Given the description of an element on the screen output the (x, y) to click on. 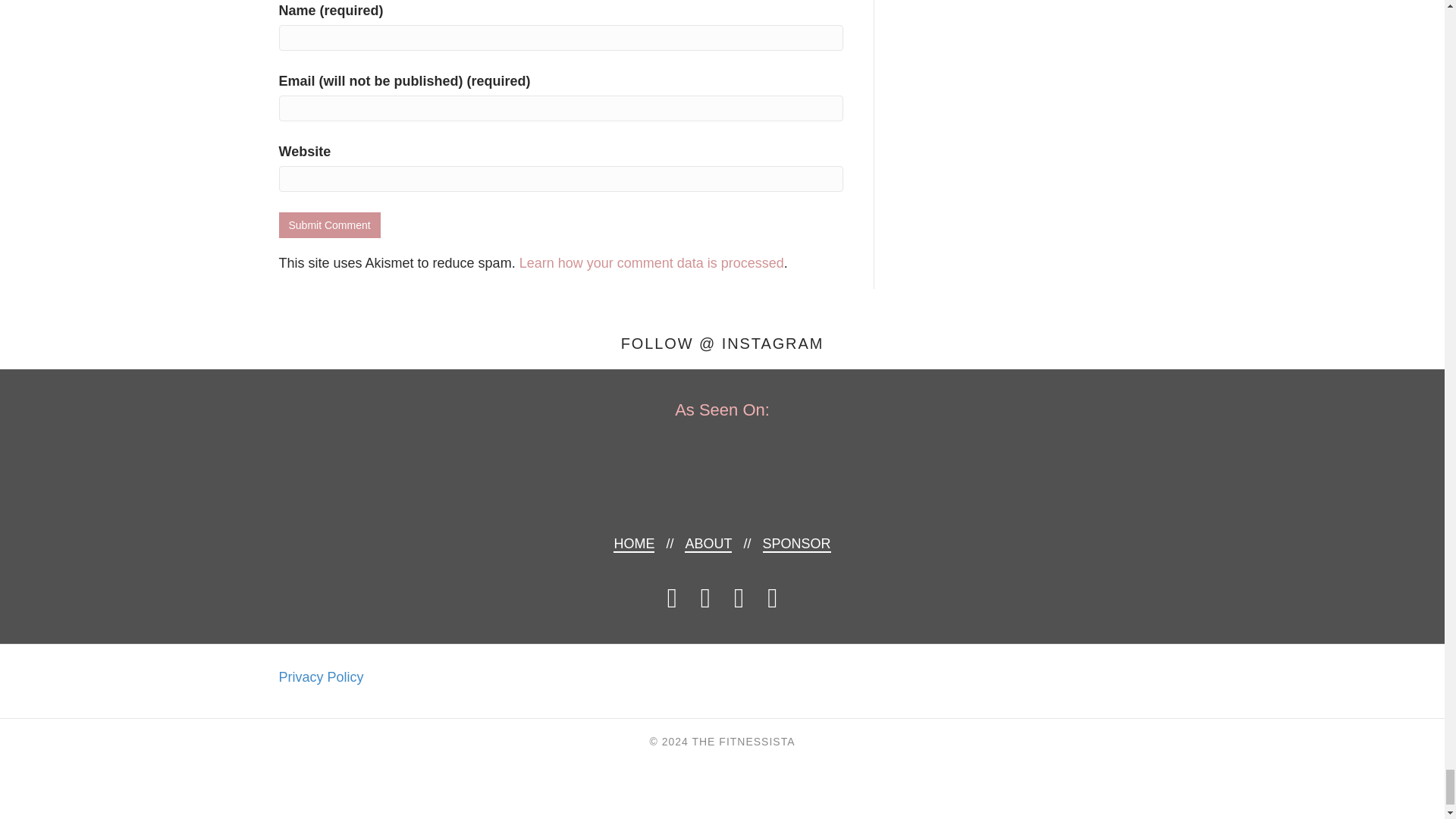
Submit Comment (329, 225)
